Given the description of an element on the screen output the (x, y) to click on. 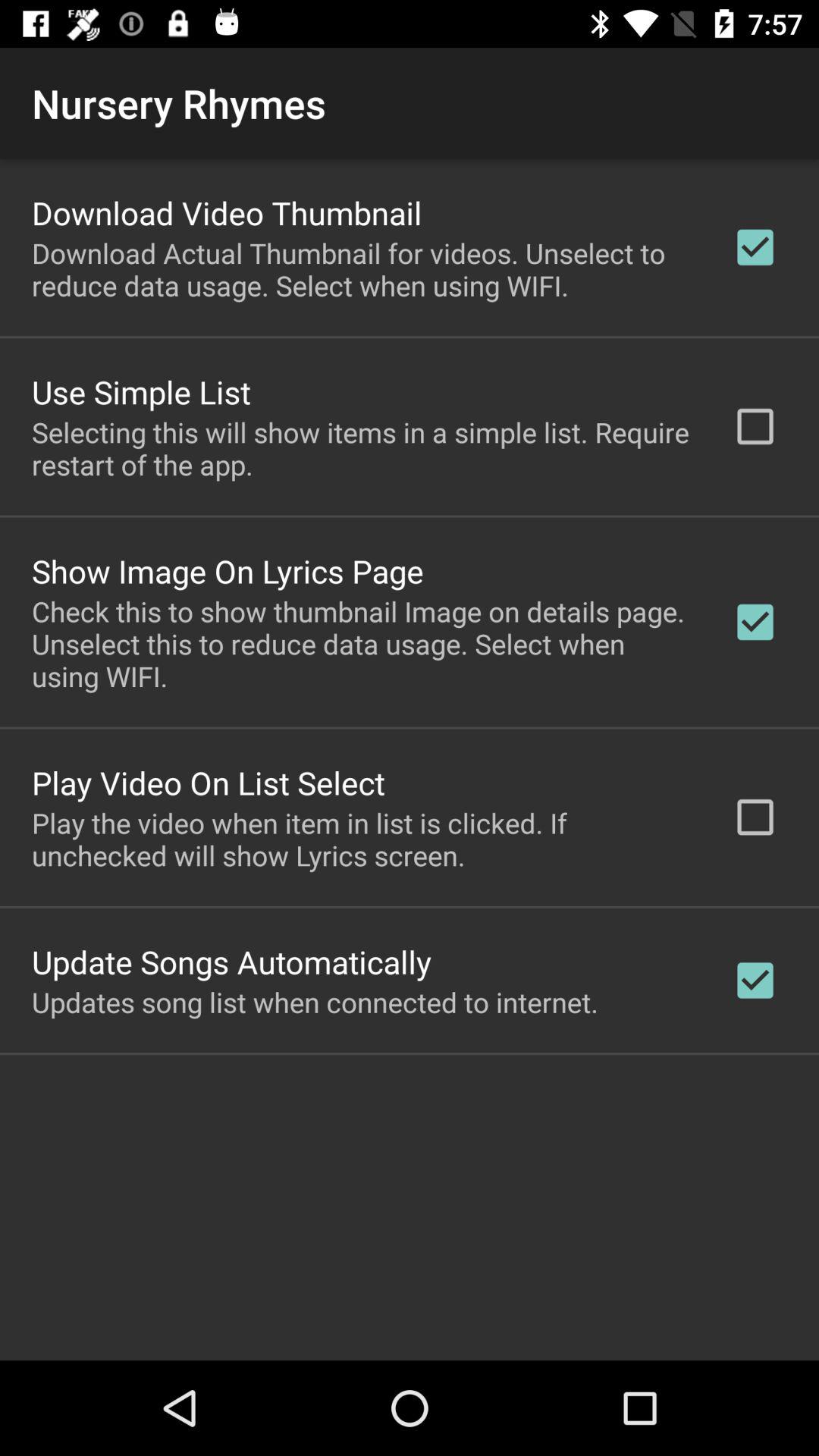
click item above the updates song list app (231, 961)
